Given the description of an element on the screen output the (x, y) to click on. 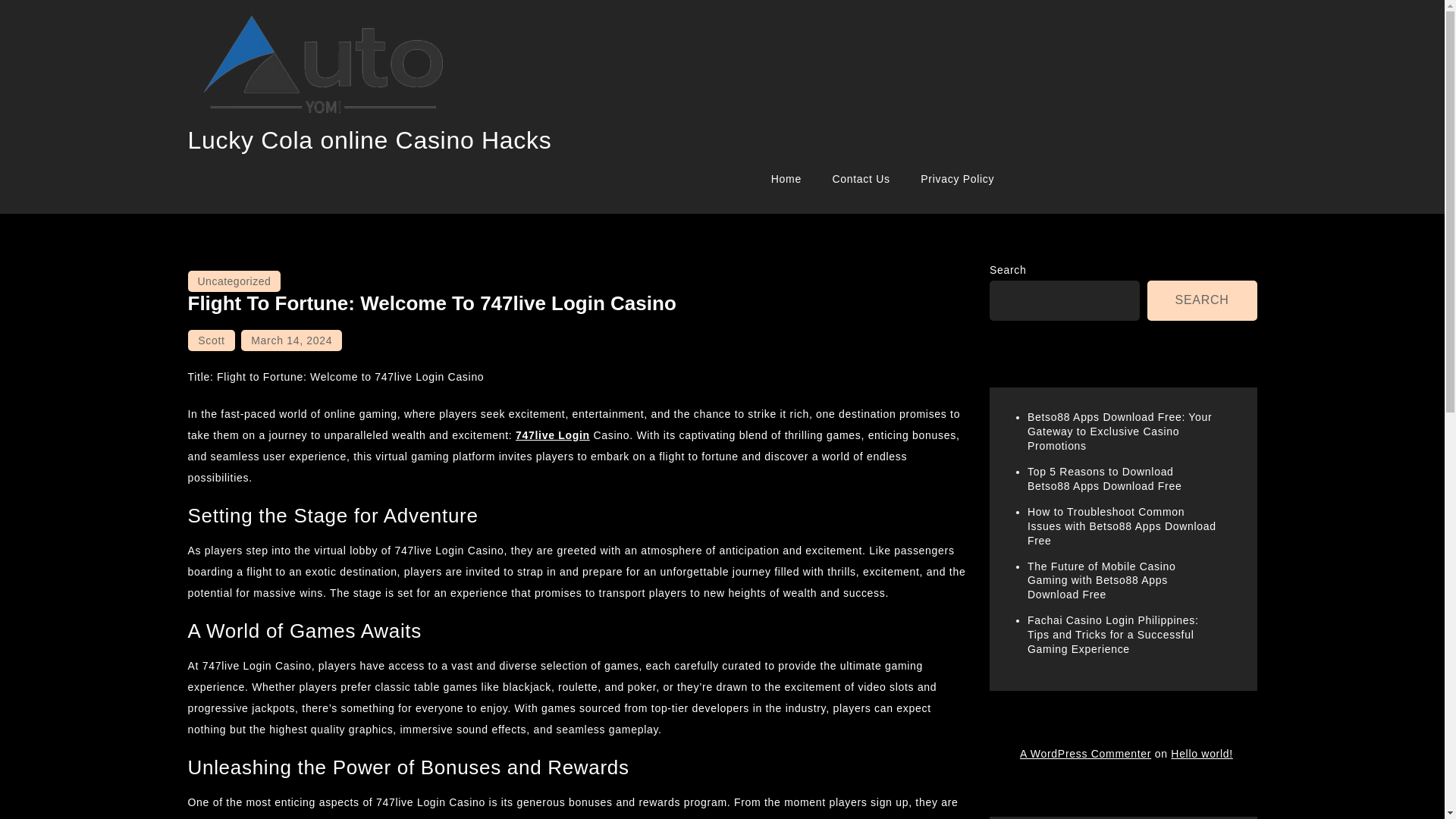
Privacy Policy (957, 178)
Scott (210, 340)
SEARCH (1202, 300)
March 14, 2024 (291, 340)
Contact Us (860, 178)
Uncategorized (234, 281)
Hello world! (1201, 753)
